Given the description of an element on the screen output the (x, y) to click on. 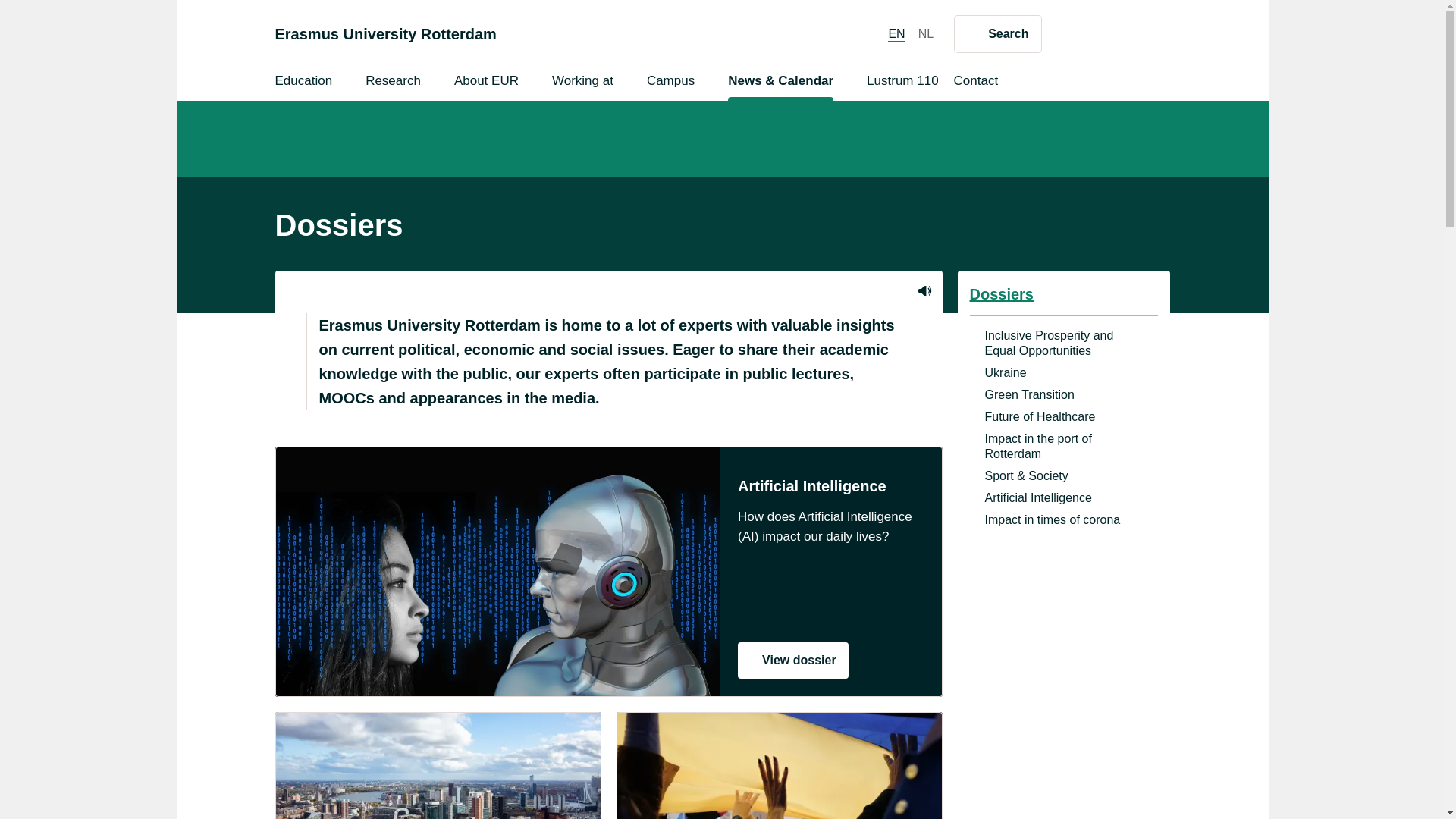
Research (392, 82)
Listen to this page using ReadSpeaker (923, 290)
Contact (975, 82)
About EUR (486, 82)
Working at (925, 33)
Campus (583, 82)
Erasmus University Rotterdam (670, 82)
View dossier (385, 33)
Lustrum 110 (793, 660)
